Given the description of an element on the screen output the (x, y) to click on. 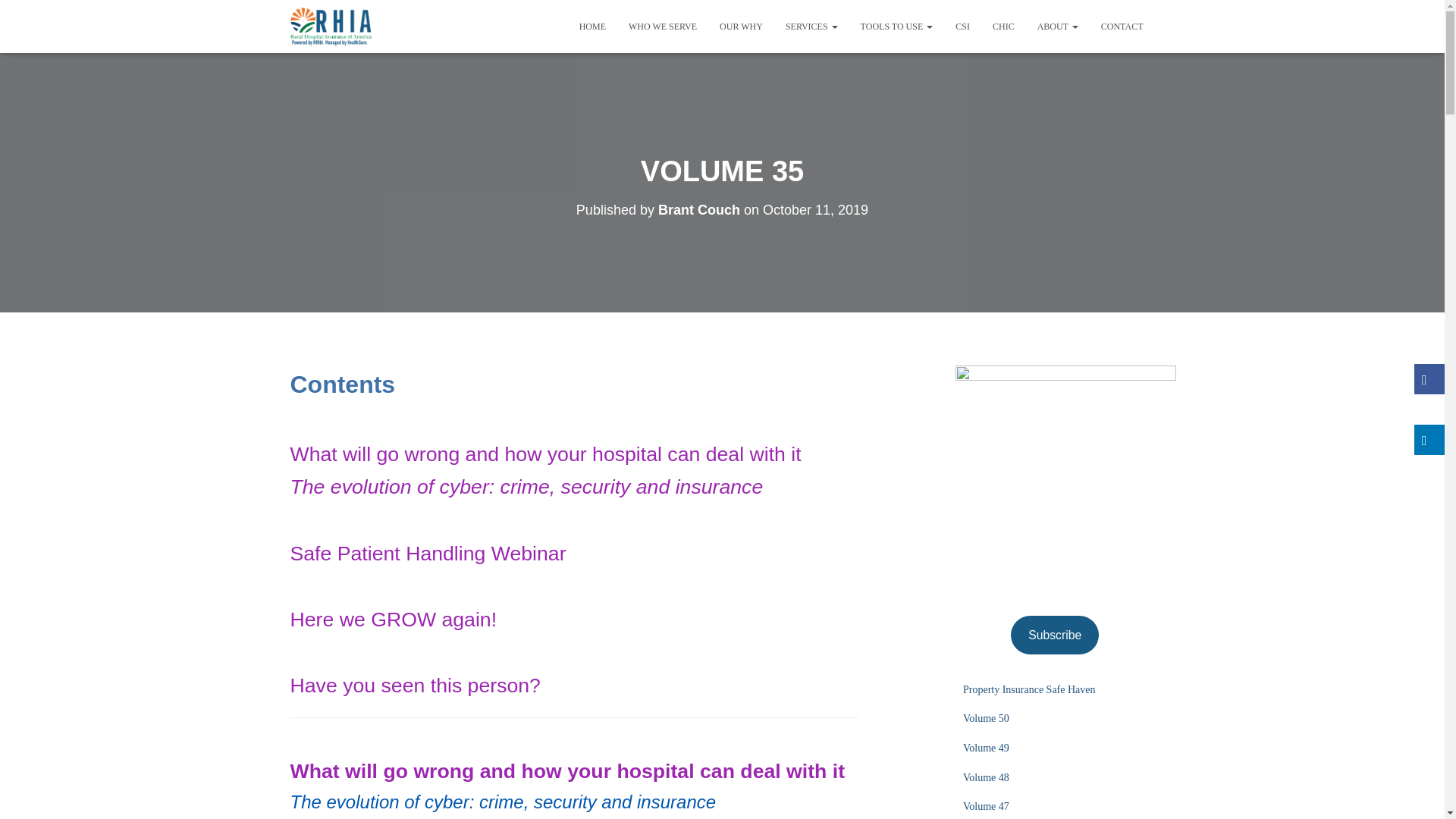
Here we GROW again! (392, 619)
HOME (592, 26)
Home (592, 26)
Our Why (740, 26)
Safe Patient Handling Webinar (427, 553)
Have you seen this person? (414, 685)
CONTACT (1121, 26)
Brant Couch (698, 209)
OUR WHY (740, 26)
CSI (962, 26)
